Given the description of an element on the screen output the (x, y) to click on. 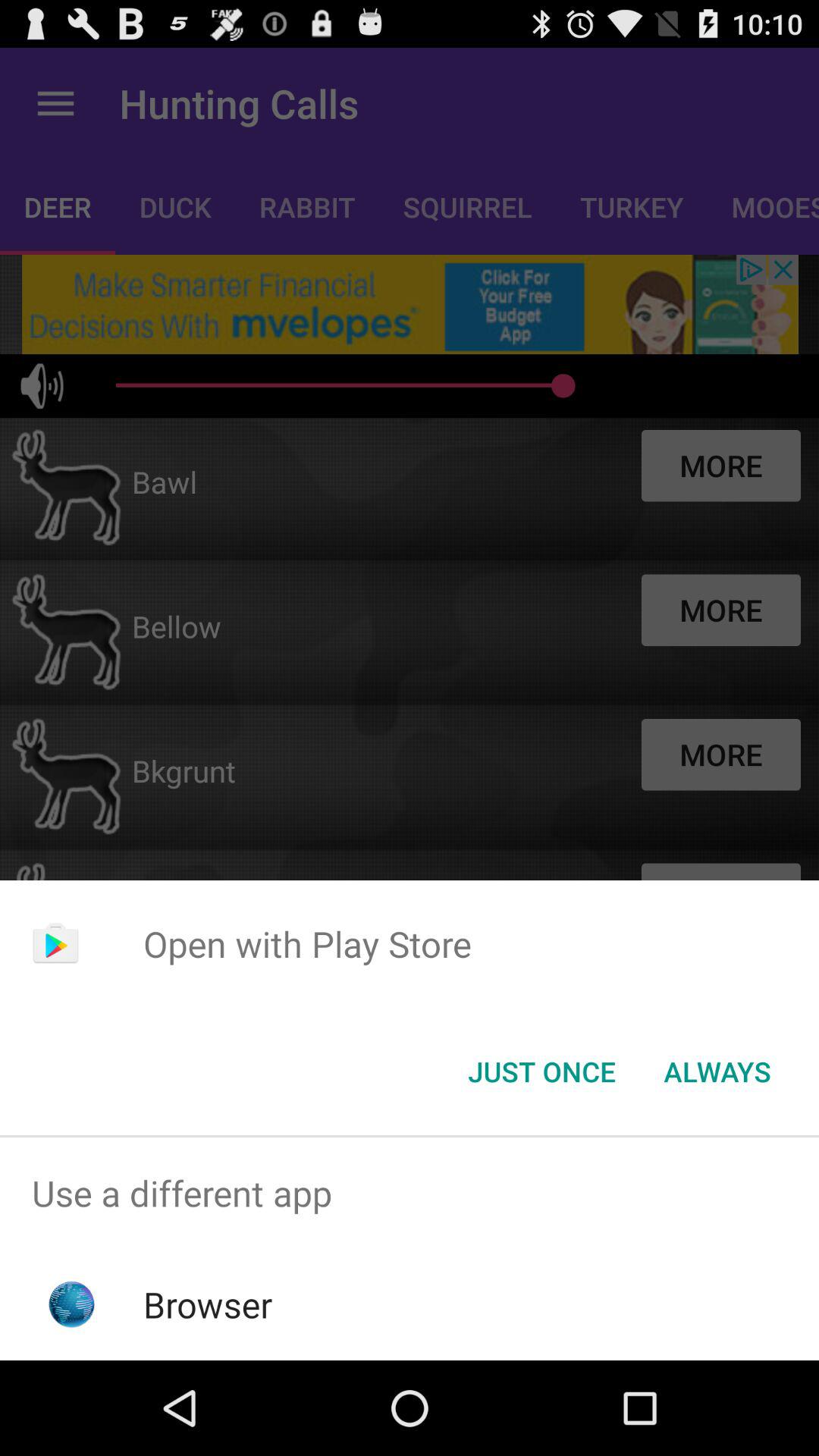
launch the item to the right of just once (717, 1071)
